Given the description of an element on the screen output the (x, y) to click on. 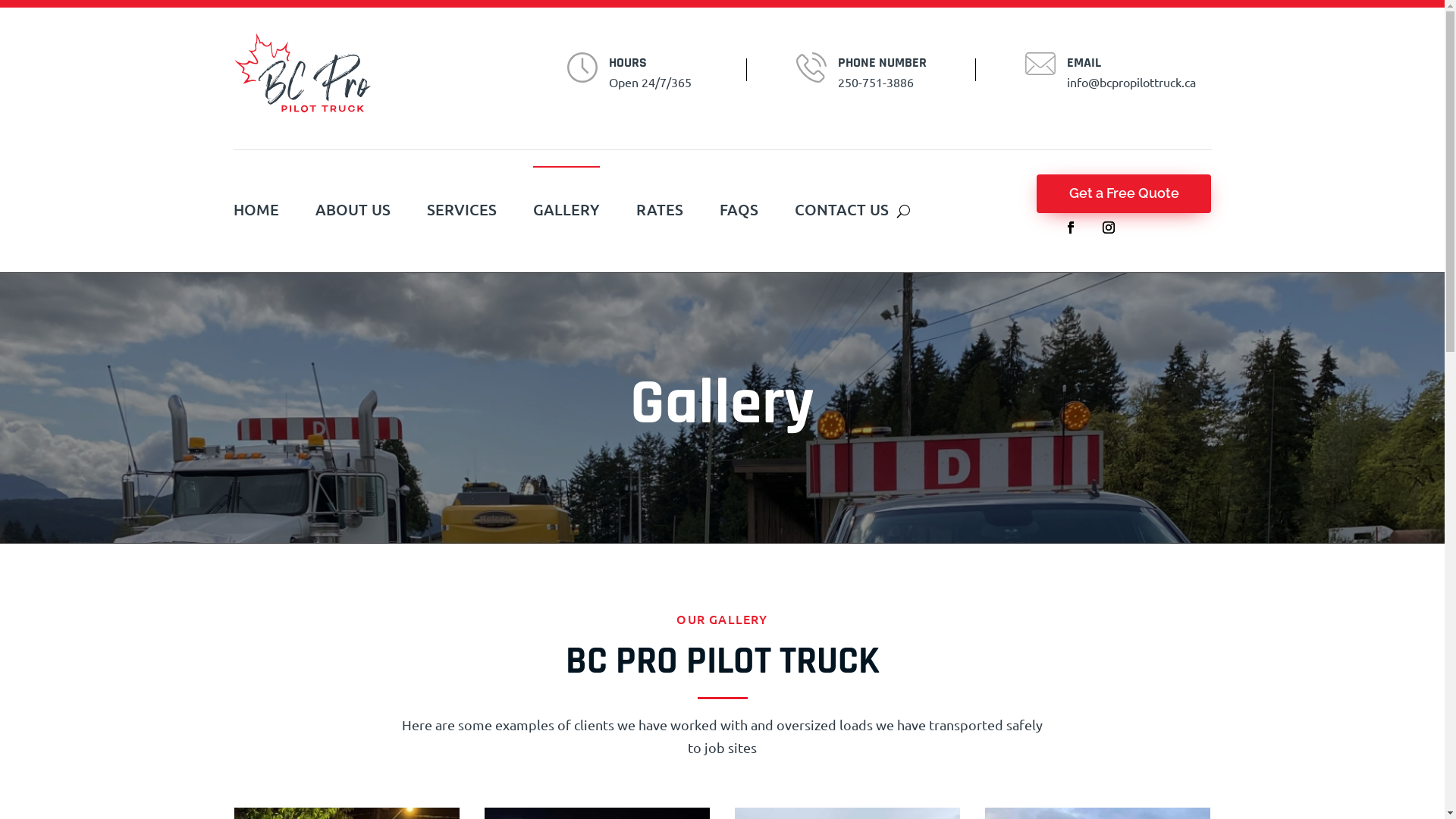
GALLERY Element type: text (565, 210)
info@bcpropilottruck.ca Element type: text (1130, 82)
bc_pro_logo Element type: hover (302, 71)
RATES Element type: text (658, 210)
250-751-3886 Element type: text (875, 82)
ABOUT US Element type: text (352, 210)
Follow on Instagram Element type: hover (1108, 227)
CONTACT US Element type: text (841, 210)
HOME Element type: text (256, 210)
Follow on Facebook Element type: hover (1070, 227)
Get a Free Quote Element type: text (1123, 193)
SERVICES Element type: text (460, 210)
FAQS Element type: text (737, 210)
